Given the description of an element on the screen output the (x, y) to click on. 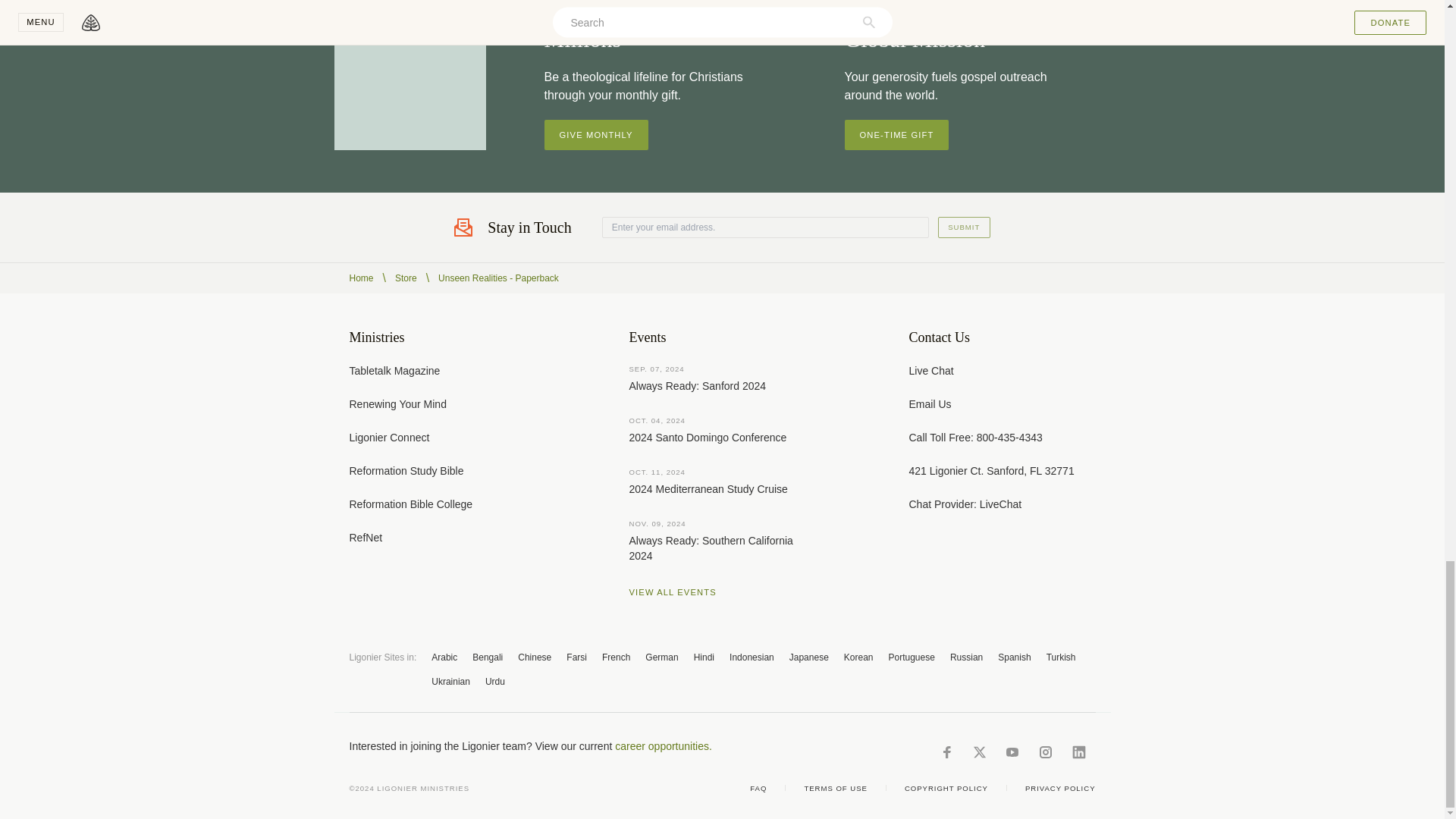
YouTube (1011, 752)
Instagram (1044, 752)
linkedin (1078, 752)
Give Monthly (595, 134)
One-Time Gift (896, 134)
Facebook (946, 752)
X (978, 752)
